Given the description of an element on the screen output the (x, y) to click on. 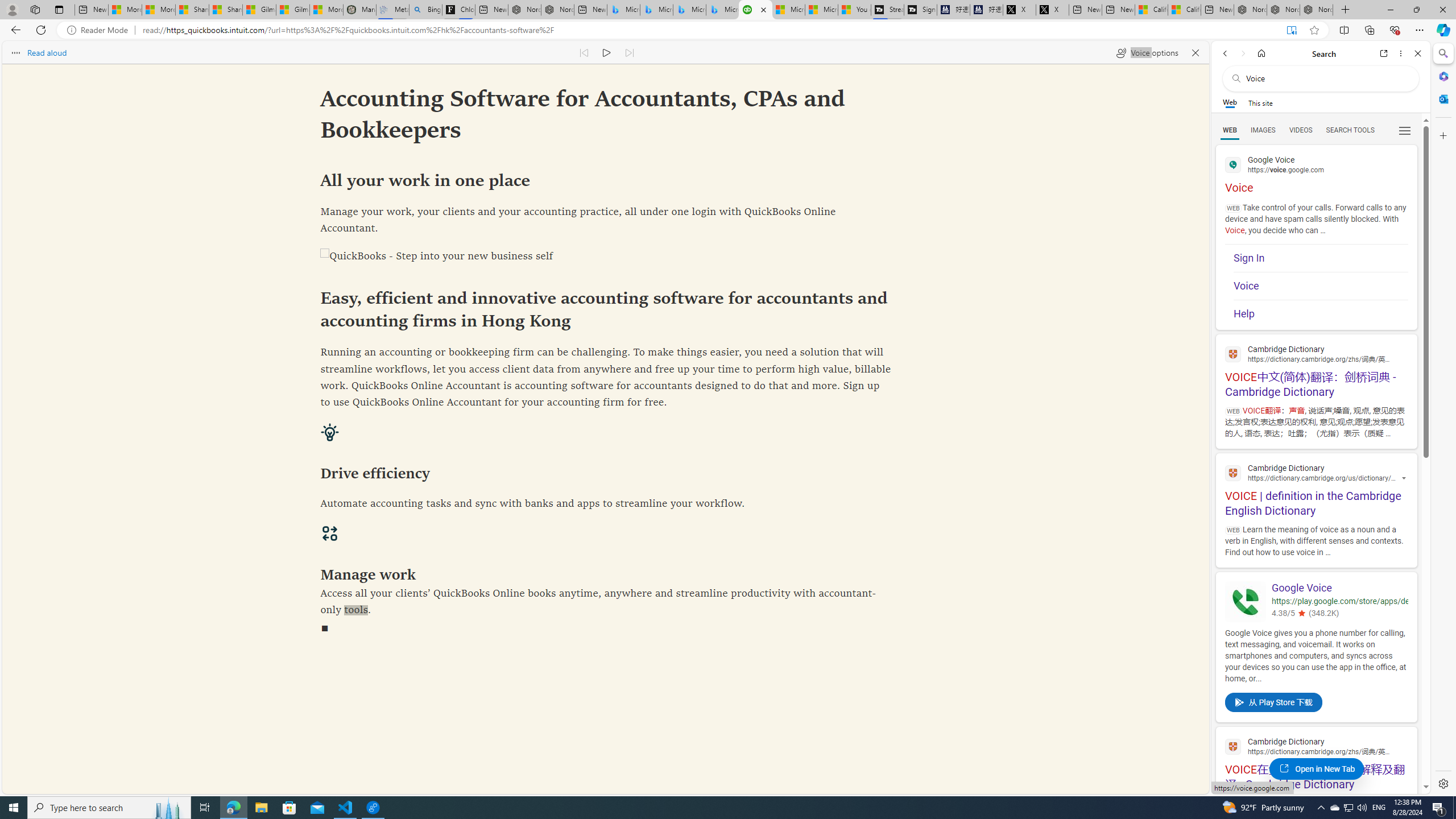
Voice options (1146, 52)
Nordace - Siena Pro 15 Essential Set (1316, 9)
Open link in new tab (1383, 53)
Google Voice (1339, 587)
Voice (1320, 286)
4.38/5(348.2K) (1339, 613)
Help (1320, 314)
Nordace - Best Sellers (1249, 9)
SEARCH TOOLS (1350, 130)
